Given the description of an element on the screen output the (x, y) to click on. 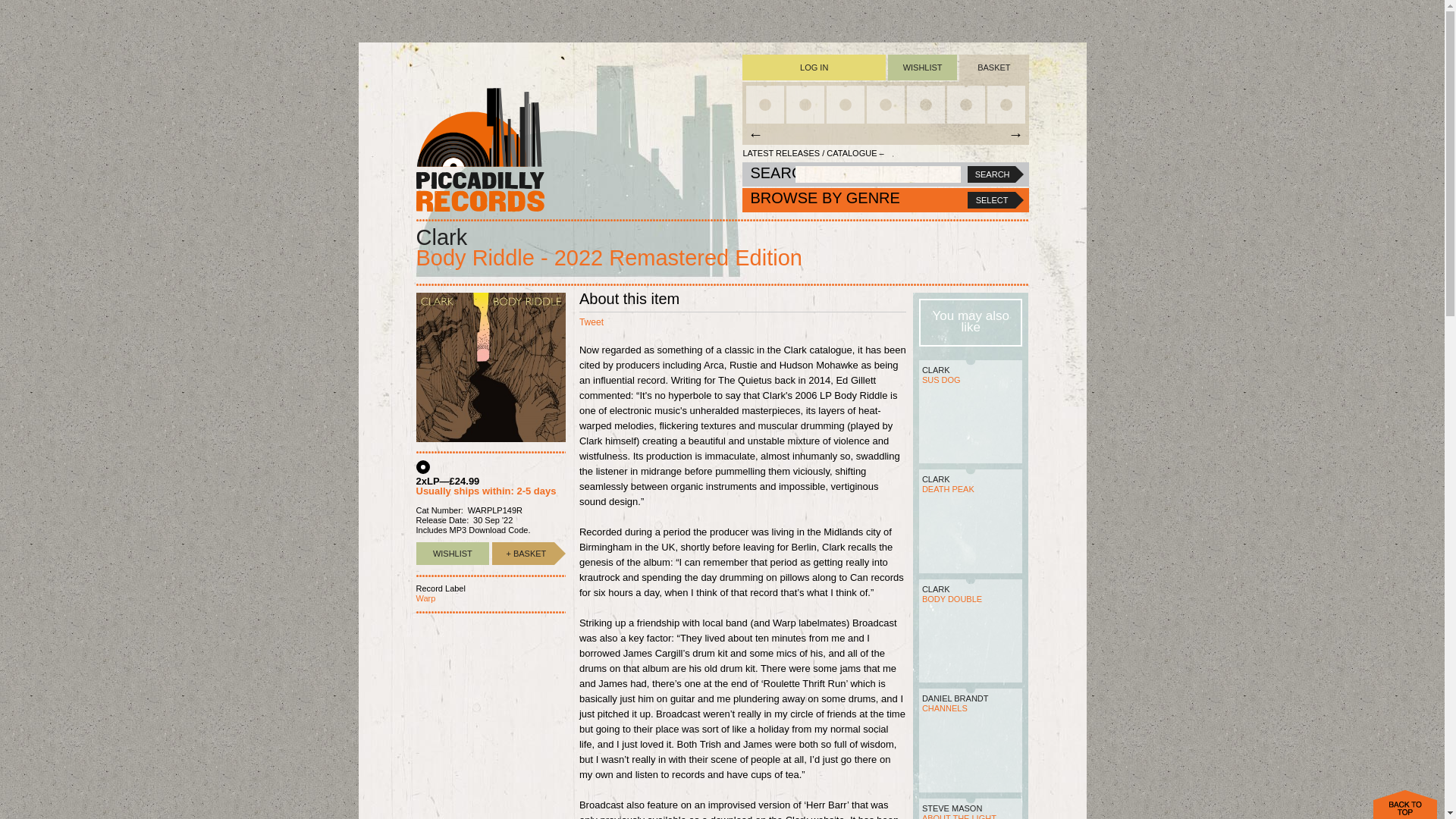
Tweet (591, 321)
Clark (440, 237)
Piccadilly Records (478, 149)
Search for other items on Warp (424, 597)
Search for other items by Clark (440, 237)
Usually ships within: 2-5 days (485, 490)
Warp (424, 597)
WISHLIST (451, 553)
Item usually despatched within 2-5 days (523, 553)
